Given the description of an element on the screen output the (x, y) to click on. 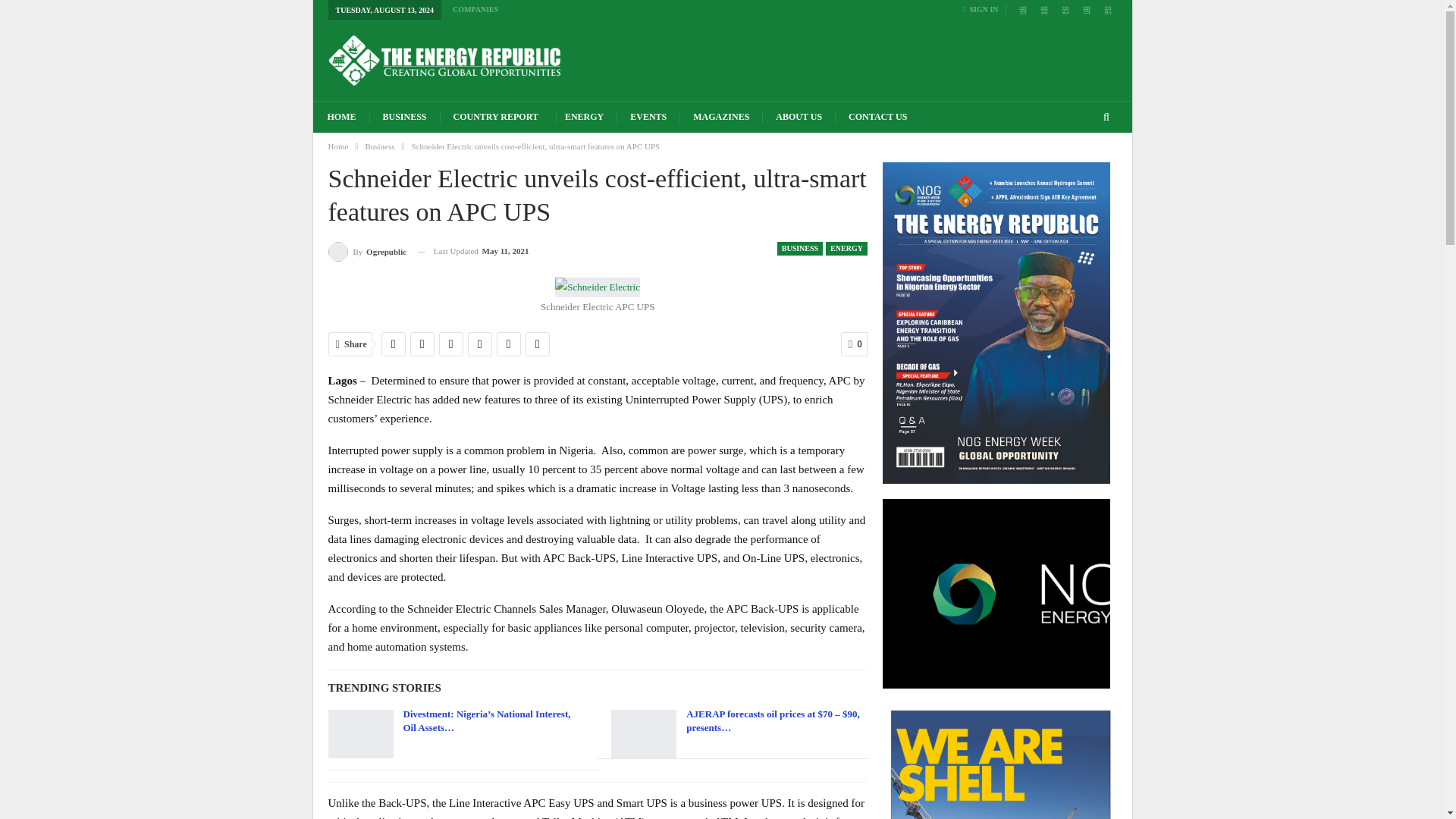
CONTACT US (877, 116)
COUNTRY REPORT (495, 116)
HOME (341, 116)
EVENTS (647, 116)
MAGAZINES (720, 116)
SIGN IN (983, 9)
Browse Author Articles (366, 250)
ABOUT US (798, 116)
COMPANIES (474, 8)
BUSINESS (404, 116)
